Given the description of an element on the screen output the (x, y) to click on. 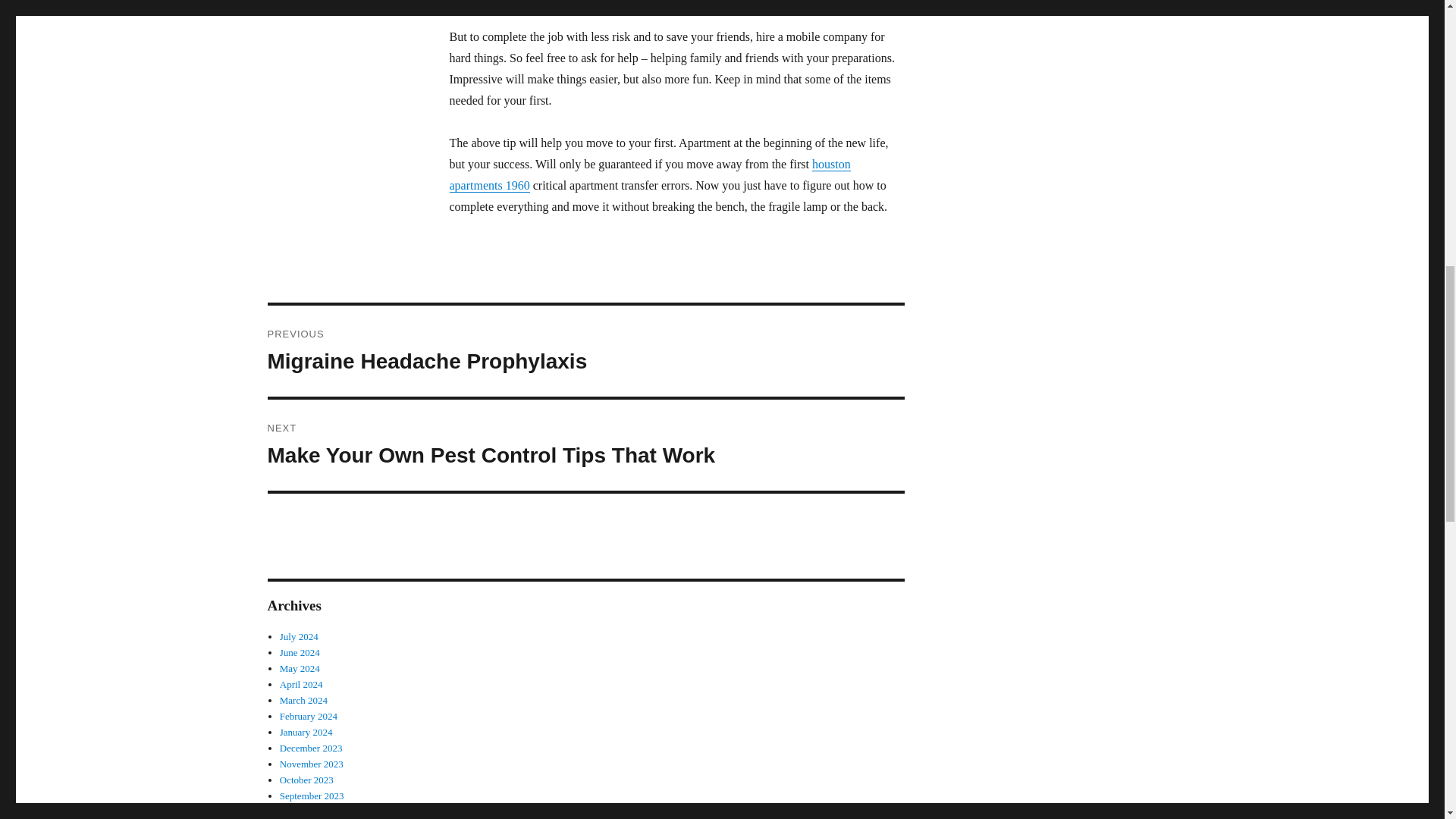
May 2024 (299, 668)
houston apartments 1960 (649, 174)
December 2023 (310, 747)
January 2024 (585, 350)
August 2023 (306, 731)
March 2024 (304, 811)
October 2023 (303, 699)
September 2023 (306, 779)
November 2023 (585, 444)
April 2024 (311, 795)
June 2024 (311, 763)
February 2024 (301, 684)
July 2024 (299, 652)
